Given the description of an element on the screen output the (x, y) to click on. 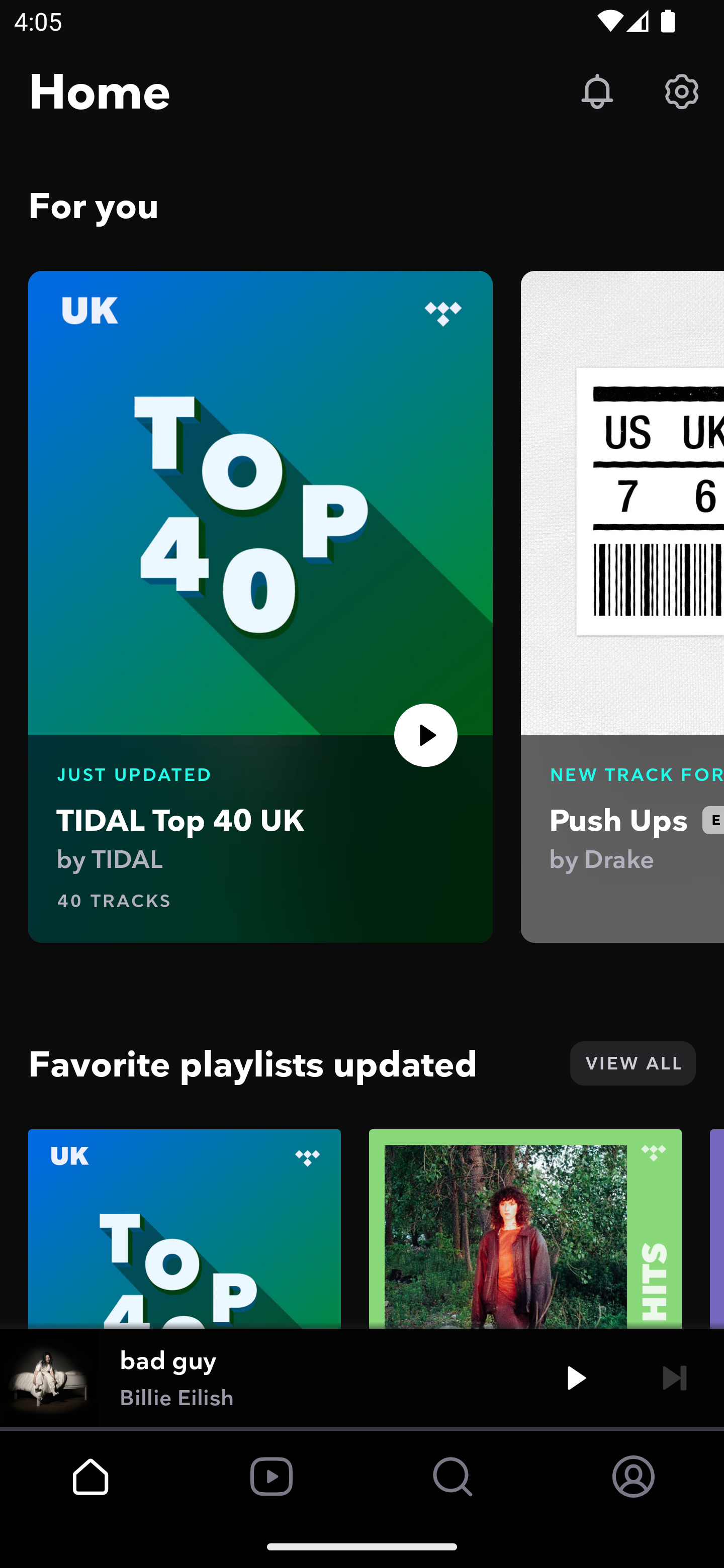
Updates (597, 90)
Settings (681, 90)
Play (425, 735)
VIEW ALL (632, 1063)
bad guy Billie Eilish Play (362, 1377)
Play (576, 1377)
